Given the description of an element on the screen output the (x, y) to click on. 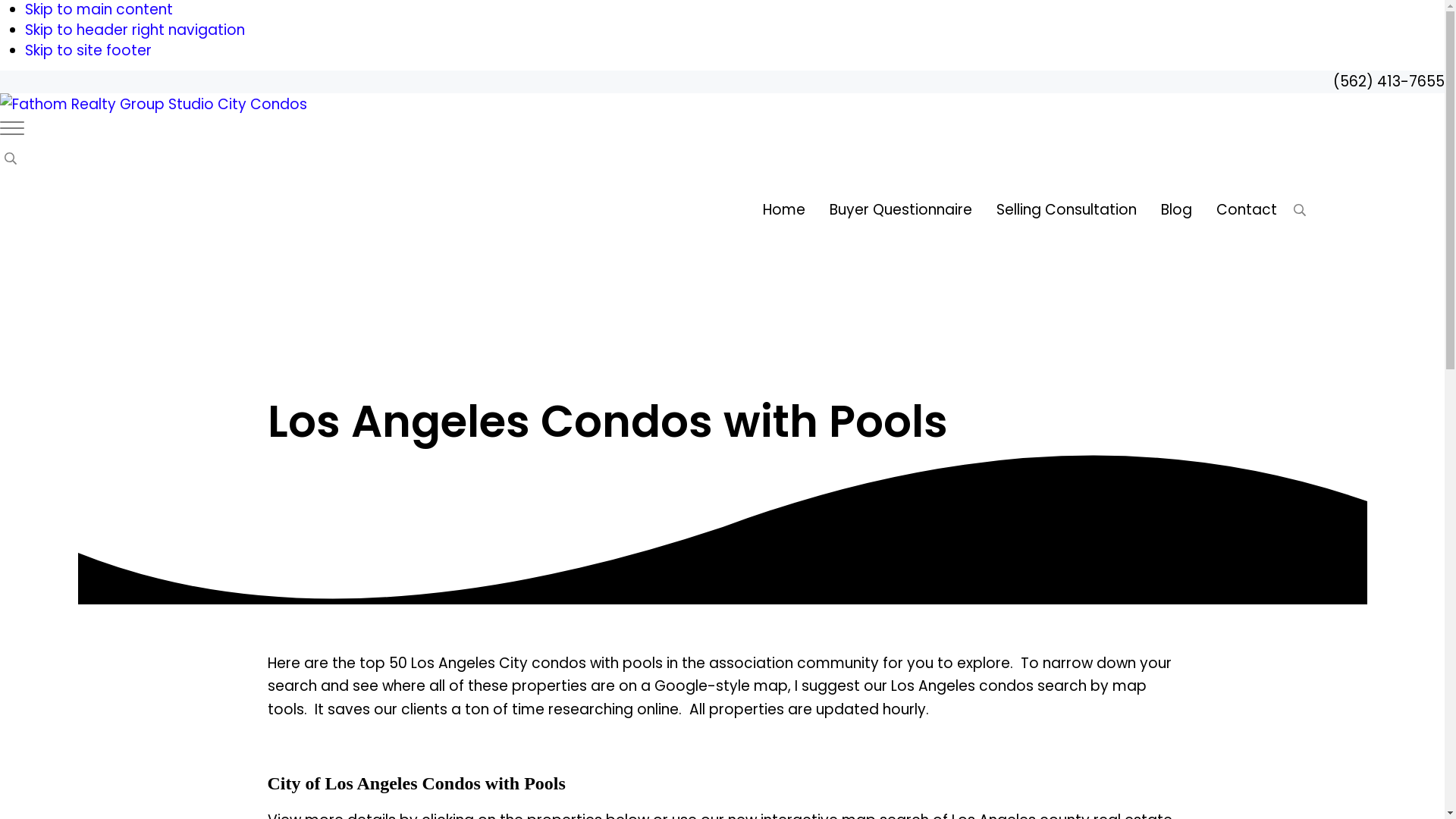
Skip to header right navigation (134, 29)
Home (783, 209)
Contact (1246, 209)
Home (783, 209)
Contact (1246, 209)
Skip to site footer (87, 50)
Skip to main content (98, 9)
Buyer Questionnaire (900, 209)
Blog (1176, 209)
Menu (12, 128)
Selling Consultation (1066, 209)
